Given the description of an element on the screen output the (x, y) to click on. 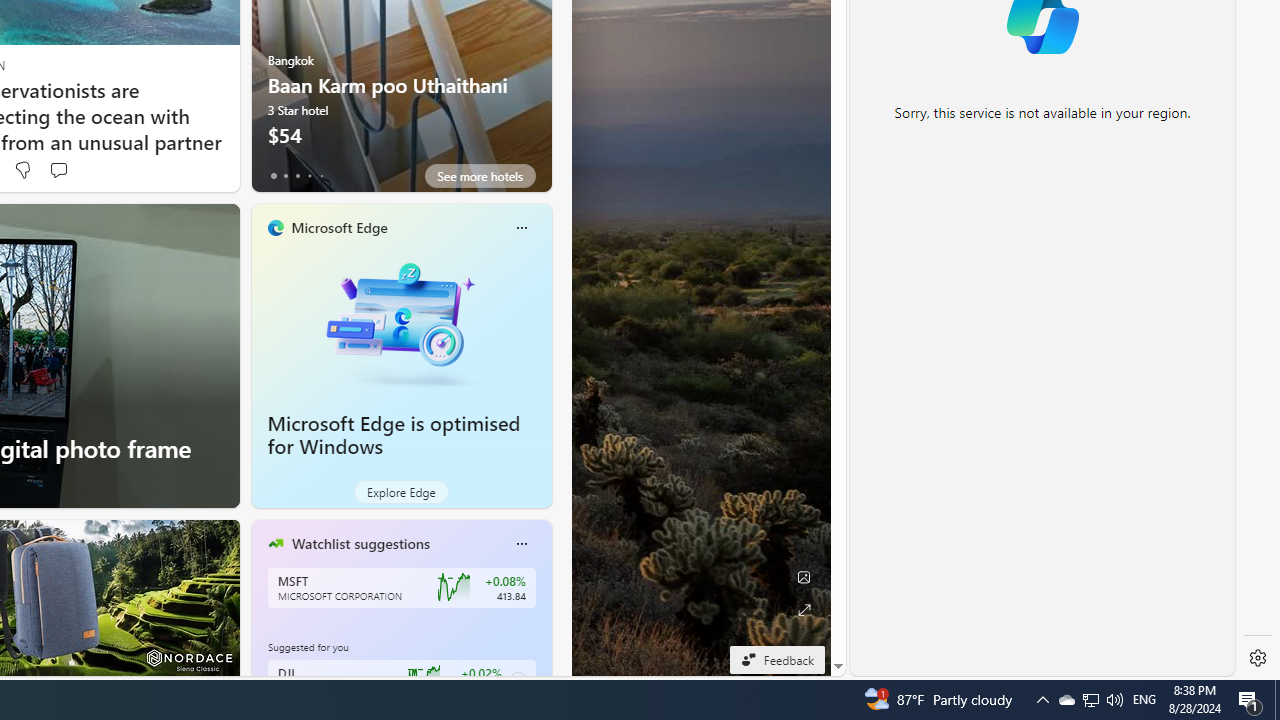
Start the conversation (58, 169)
See more hotels (479, 175)
Dislike (21, 170)
tab-4 (320, 175)
Class: follow-button  m (517, 679)
Start the conversation (57, 170)
Microsoft Edge (338, 227)
Microsoft Edge is optimised for Windows (393, 435)
